Given the description of an element on the screen output the (x, y) to click on. 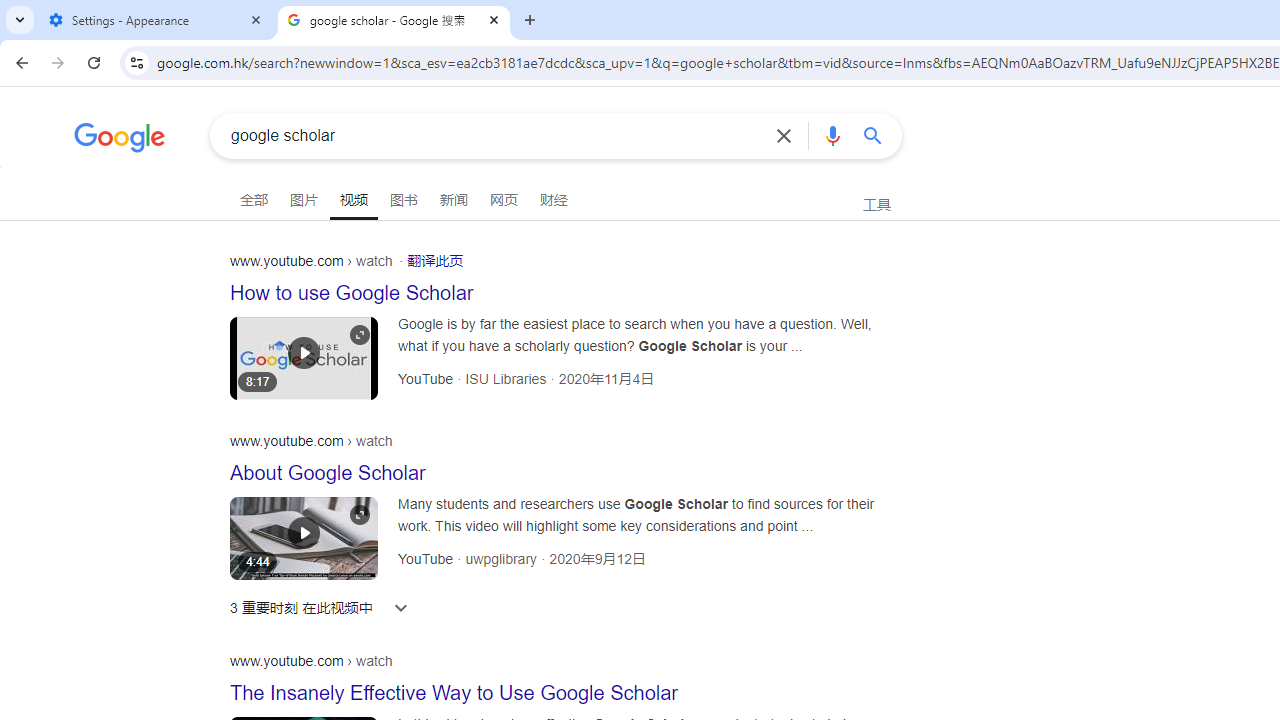
Settings - Appearance (156, 20)
